Given the description of an element on the screen output the (x, y) to click on. 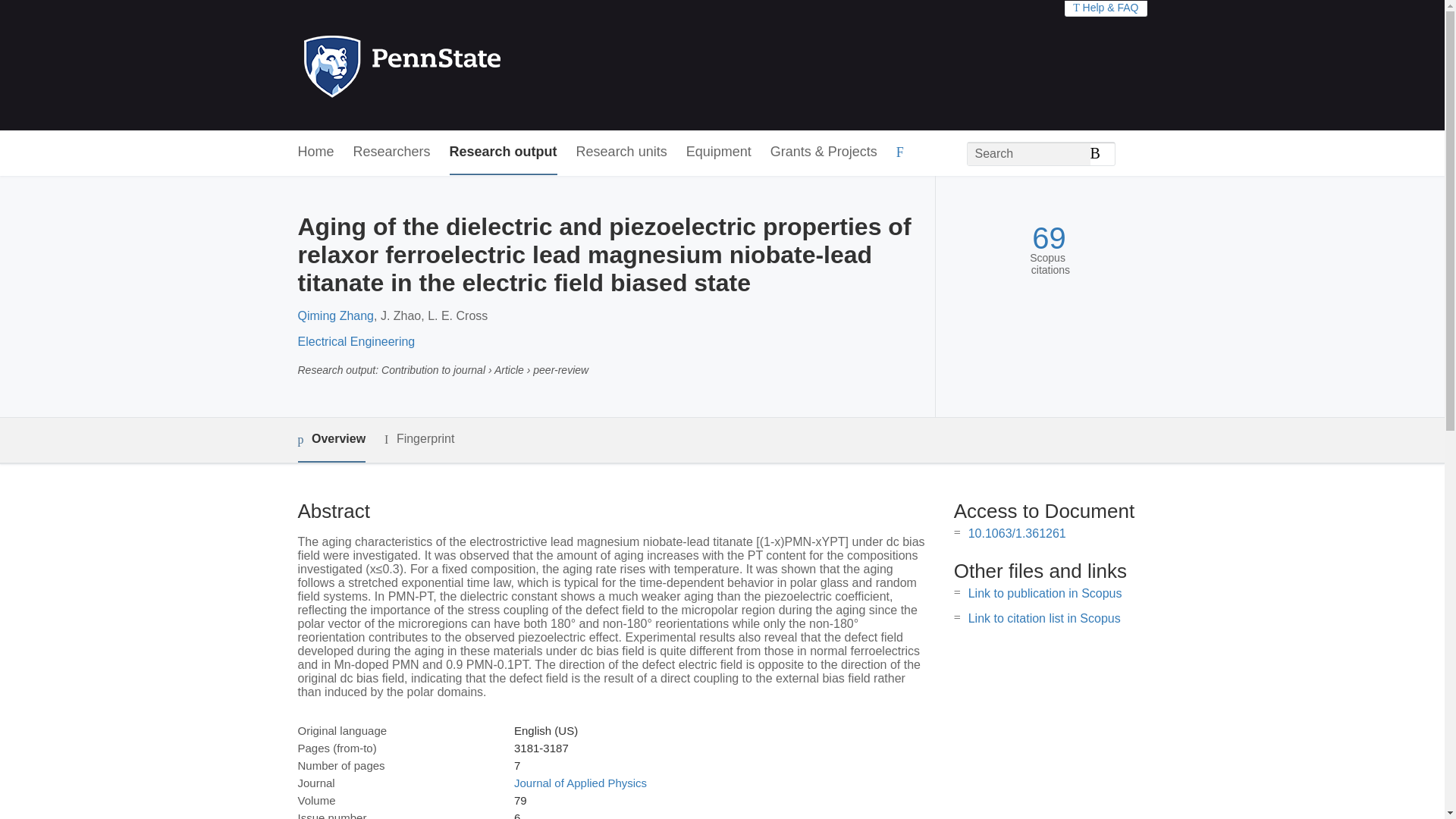
Penn State Home (467, 65)
Researchers (391, 152)
Qiming Zhang (335, 315)
69 (1048, 238)
Link to citation list in Scopus (1044, 617)
Journal of Applied Physics (579, 782)
Overview (331, 439)
Research units (621, 152)
Electrical Engineering (355, 341)
Fingerprint (419, 439)
Link to publication in Scopus (1045, 593)
Home (315, 152)
Research output (503, 152)
Equipment (718, 152)
